Given the description of an element on the screen output the (x, y) to click on. 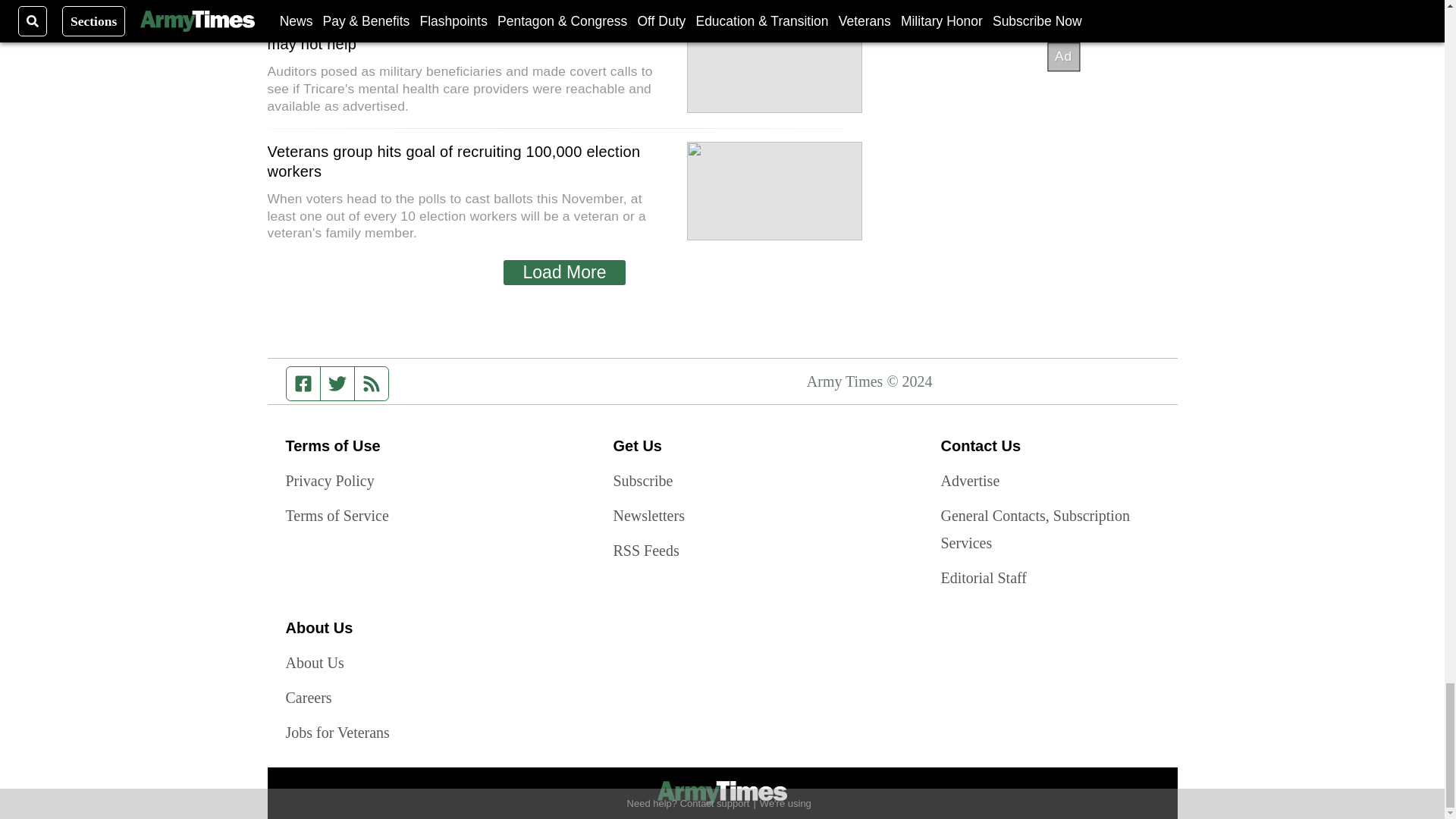
Facebook page (303, 383)
Twitter feed (336, 383)
RSS feed (371, 383)
